Given the description of an element on the screen output the (x, y) to click on. 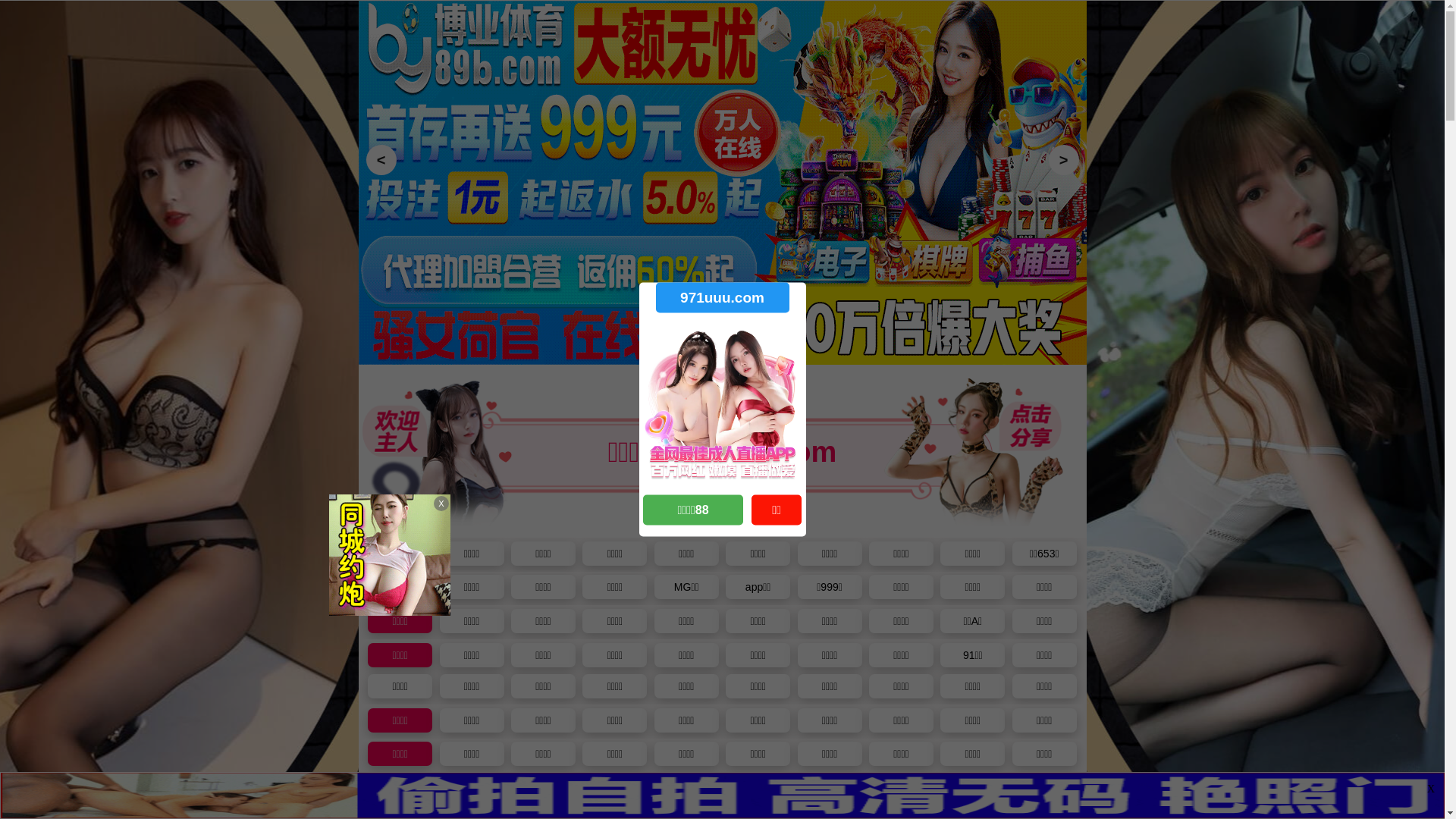
971uuu.com Element type: text (721, 297)
X Element type: text (1430, 789)
> Element type: text (1063, 159)
< Element type: text (380, 159)
